Given the description of an element on the screen output the (x, y) to click on. 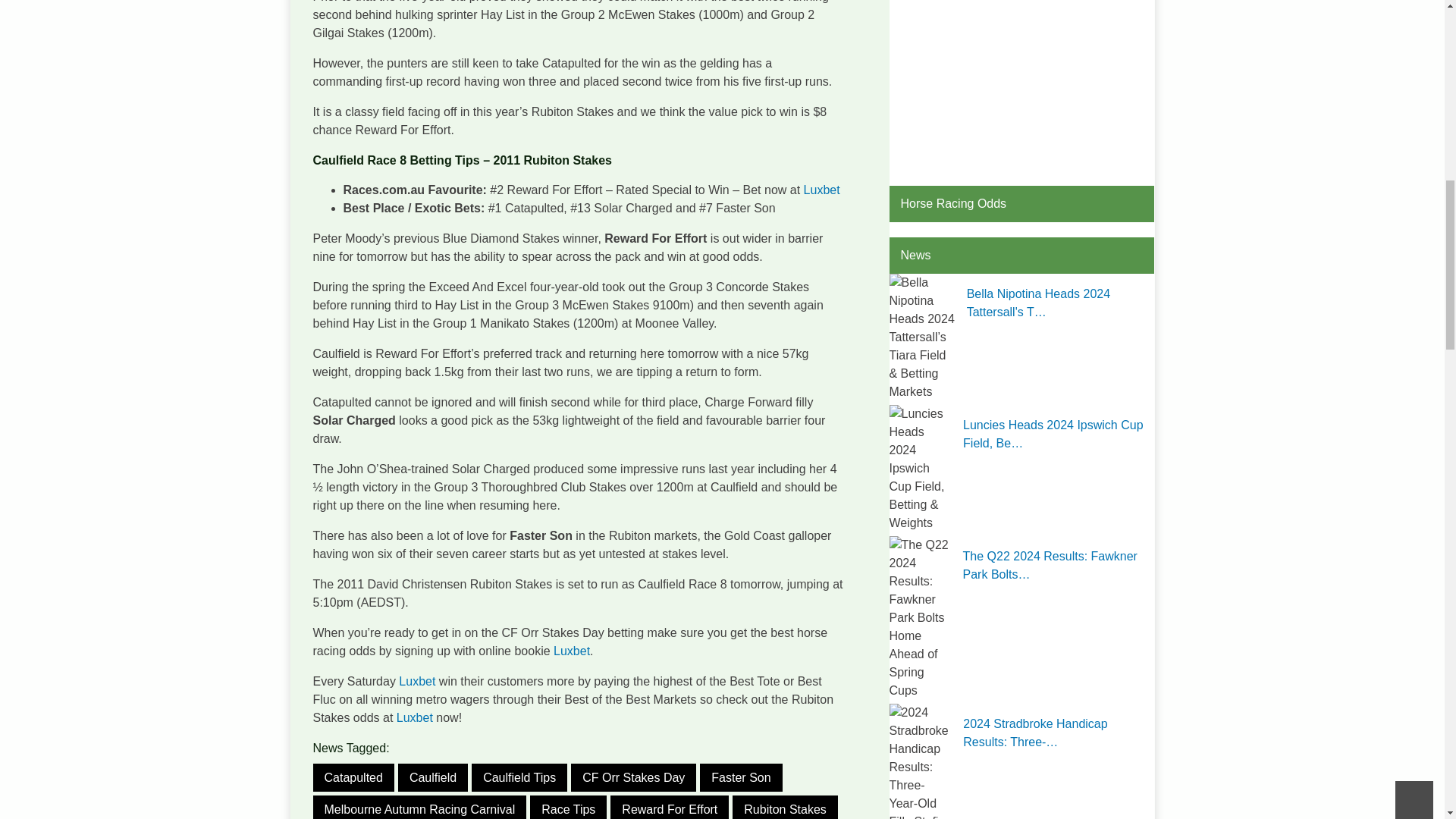
advertisement (1021, 85)
